Given the description of an element on the screen output the (x, y) to click on. 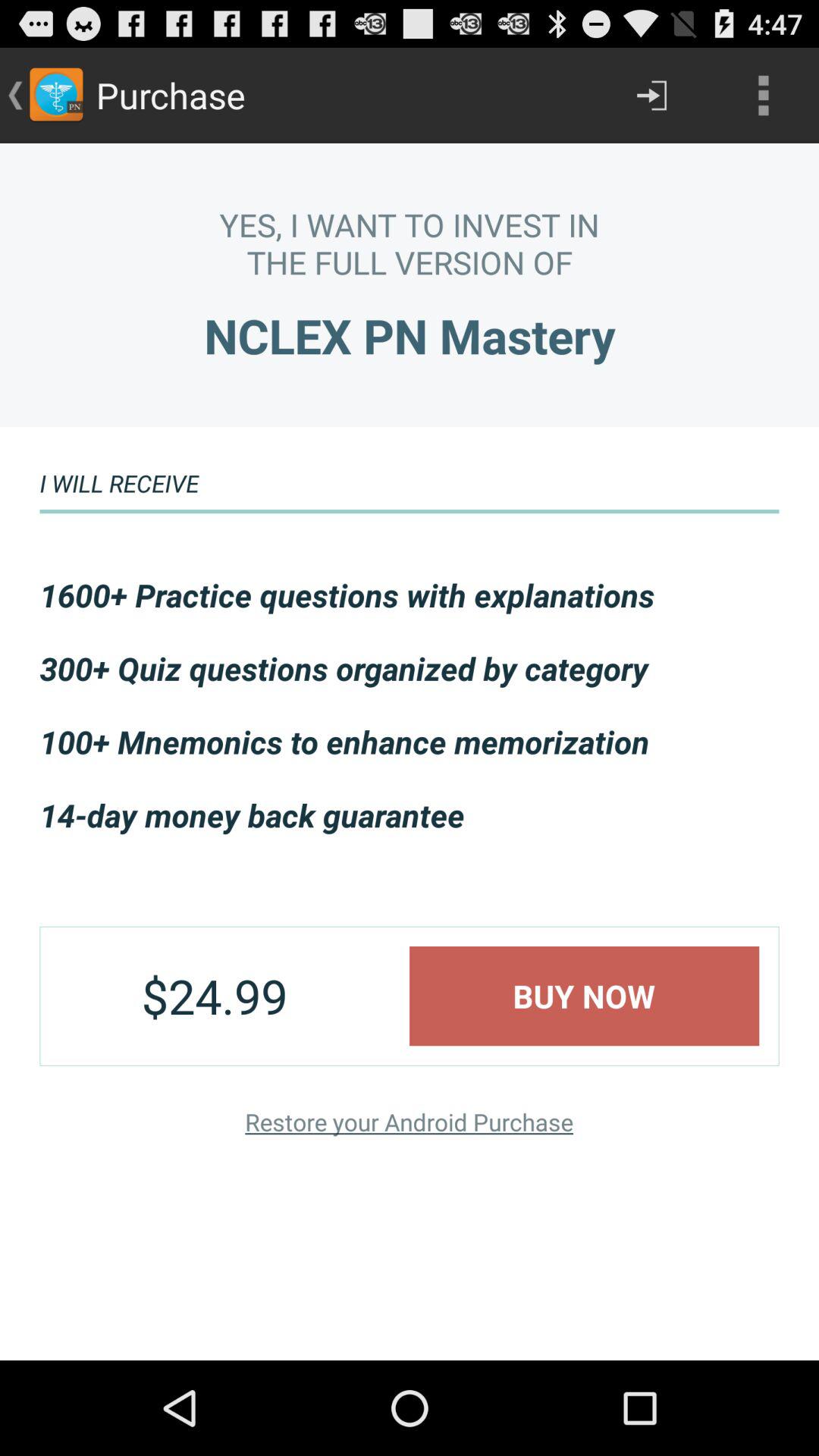
open the app to the right of the purchase icon (651, 95)
